Given the description of an element on the screen output the (x, y) to click on. 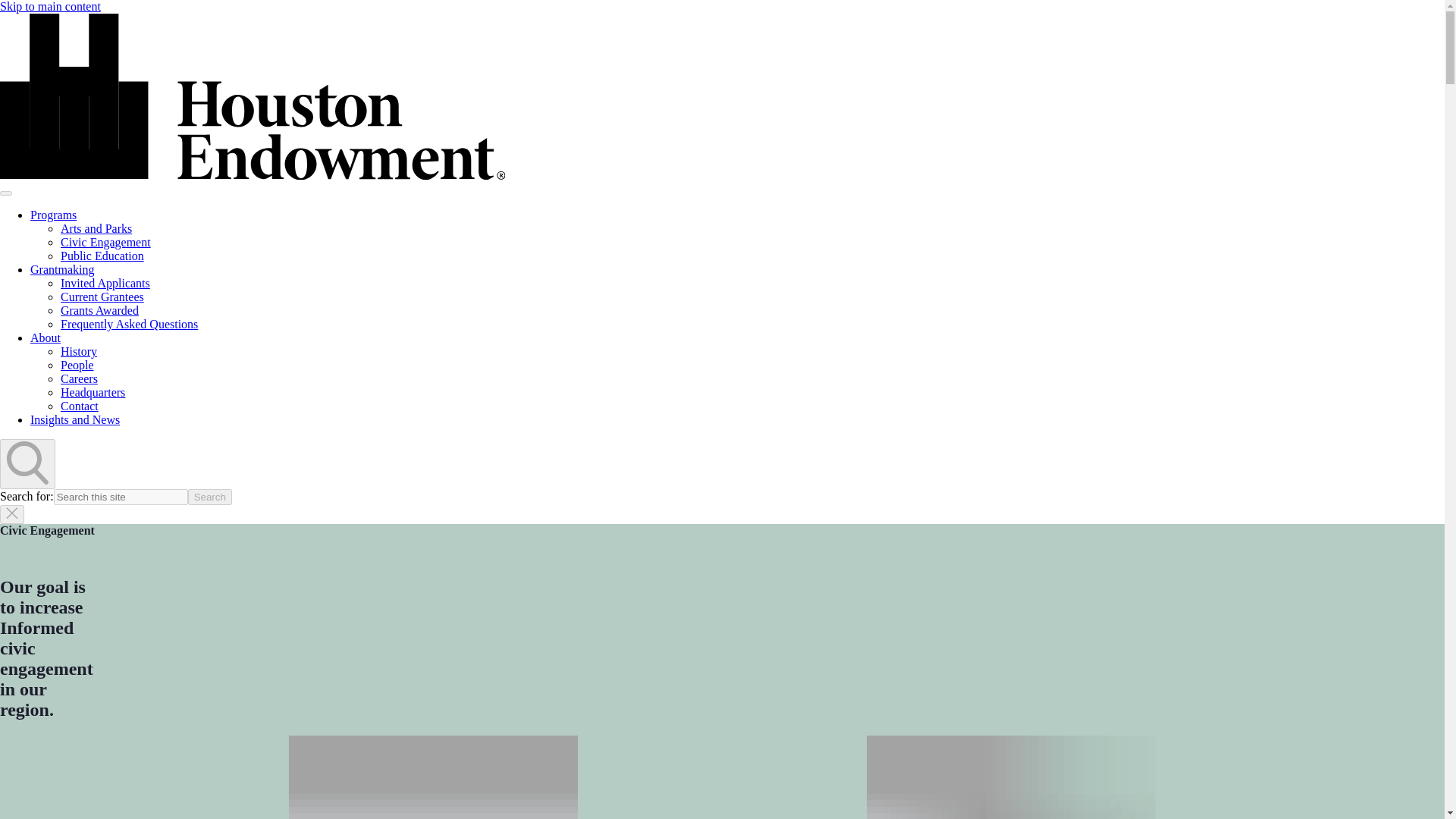
About (45, 337)
Civic Engagement (106, 241)
Programs (53, 214)
Contact (80, 405)
Public Education (102, 255)
Careers (79, 378)
Insights and News (74, 419)
Invited Applicants (105, 282)
Search (209, 496)
People (77, 364)
